Given the description of an element on the screen output the (x, y) to click on. 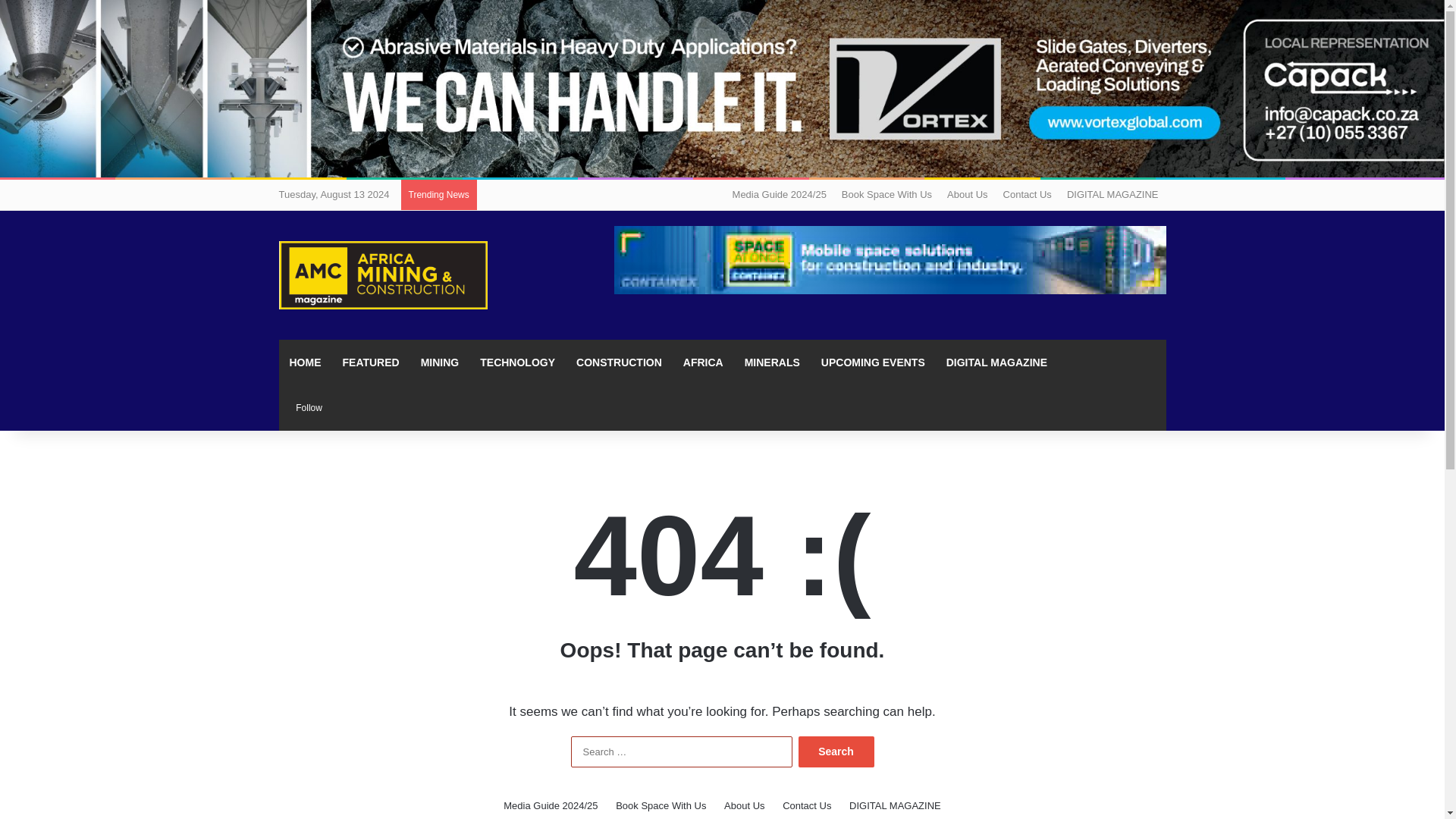
UPCOMING EVENTS (873, 361)
FEATURED (370, 361)
Contact Us (807, 805)
Search (835, 751)
Follow (306, 407)
Contact Us (1027, 194)
HOME (305, 361)
Book Space With Us (660, 805)
Search (835, 751)
CONSTRUCTION (619, 361)
